Given the description of an element on the screen output the (x, y) to click on. 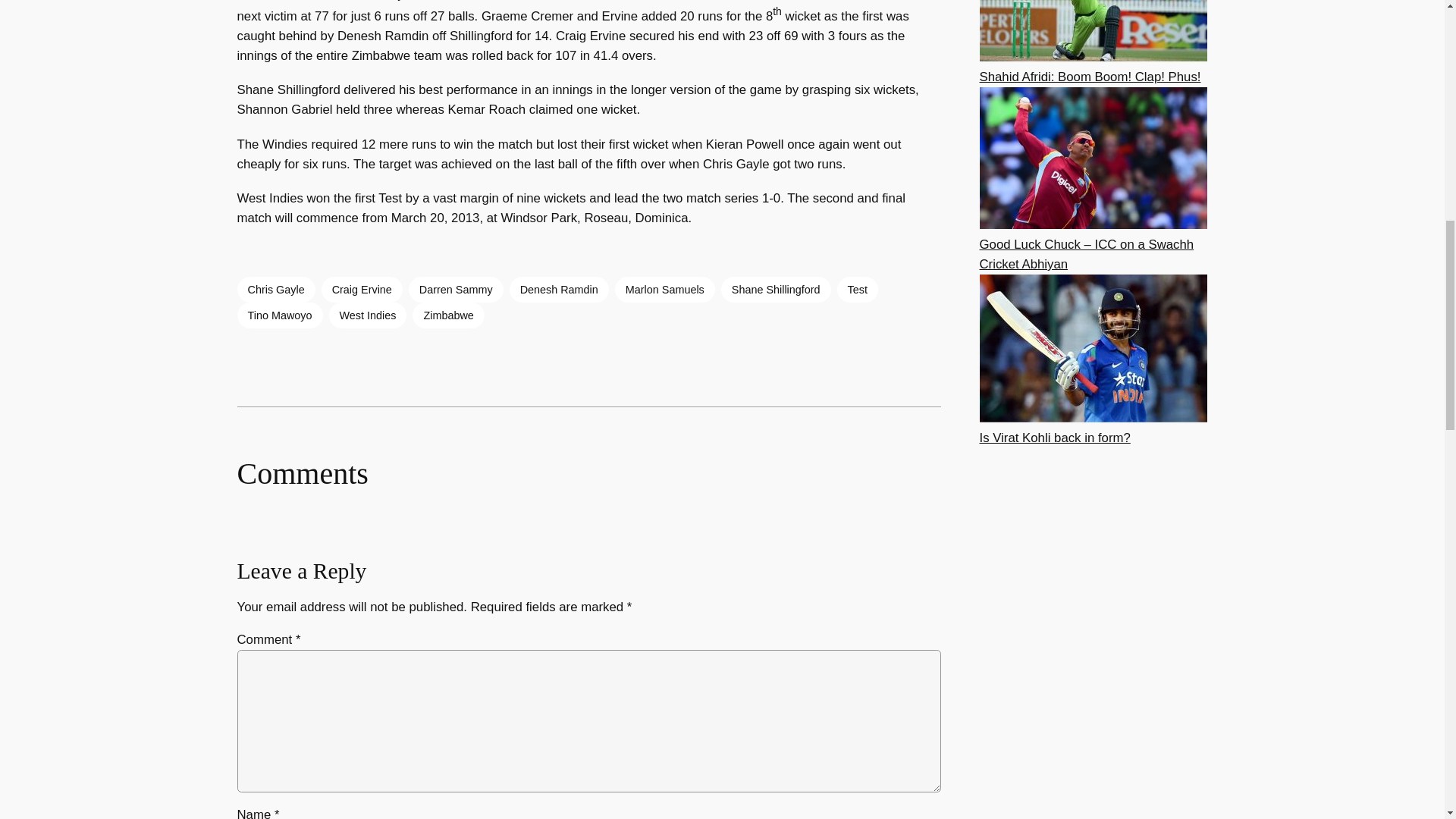
Shahid Afridi: Boom Boom! Clap! Phus! (1090, 76)
Is Virat Kohli back in form? (1055, 437)
Shane Shillingford (775, 289)
Craig Ervine (362, 289)
Denesh Ramdin (558, 289)
Zimbabwe (447, 315)
West Indies (368, 315)
Marlon Samuels (664, 289)
Tino Mawoyo (278, 315)
Darren Sammy (456, 289)
